Given the description of an element on the screen output the (x, y) to click on. 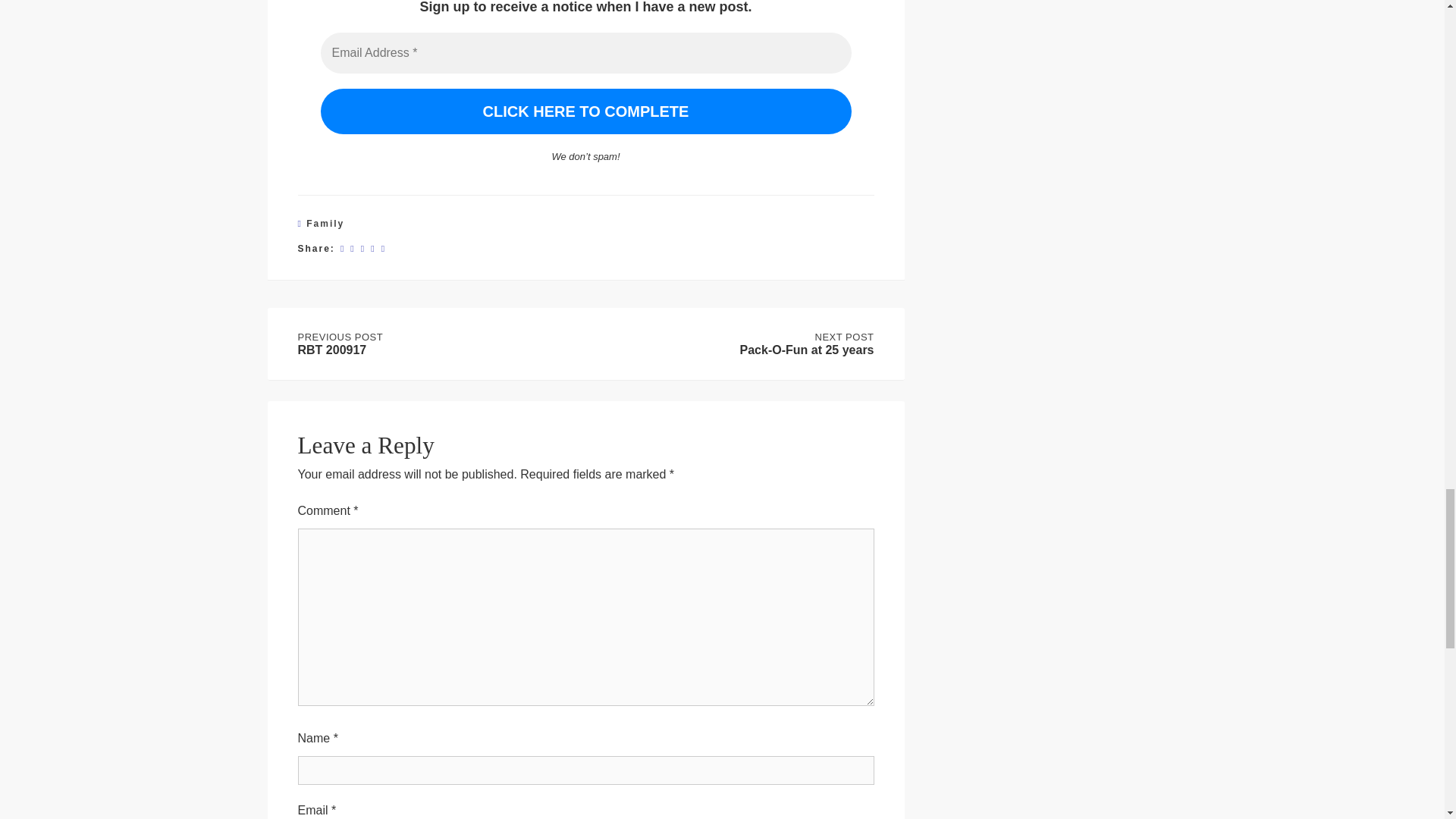
Family (324, 223)
Email Address (585, 52)
Click here to complete (585, 111)
Click here to complete (438, 343)
